Given the description of an element on the screen output the (x, y) to click on. 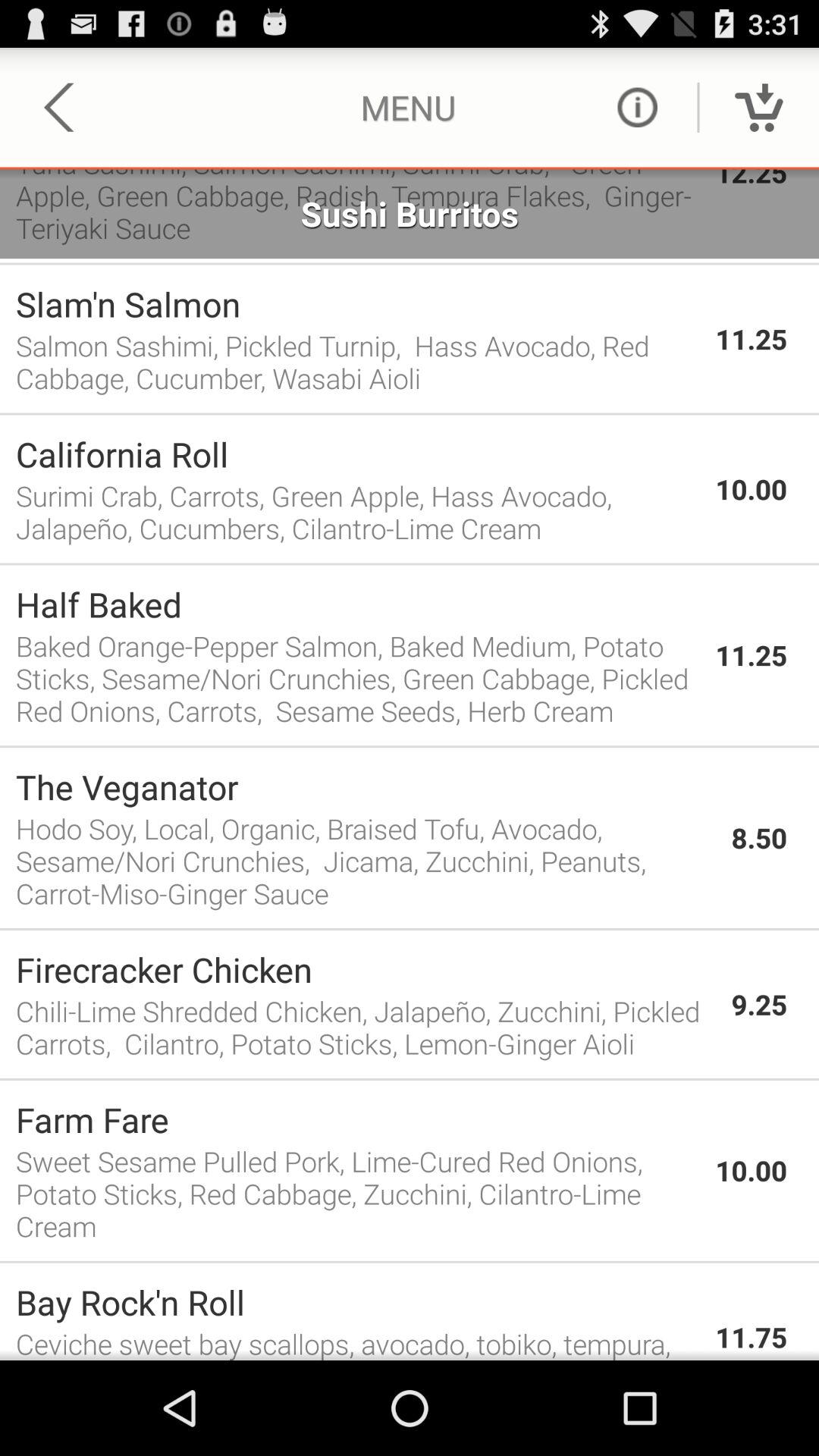
turn off bay rock n (357, 1302)
